Given the description of an element on the screen output the (x, y) to click on. 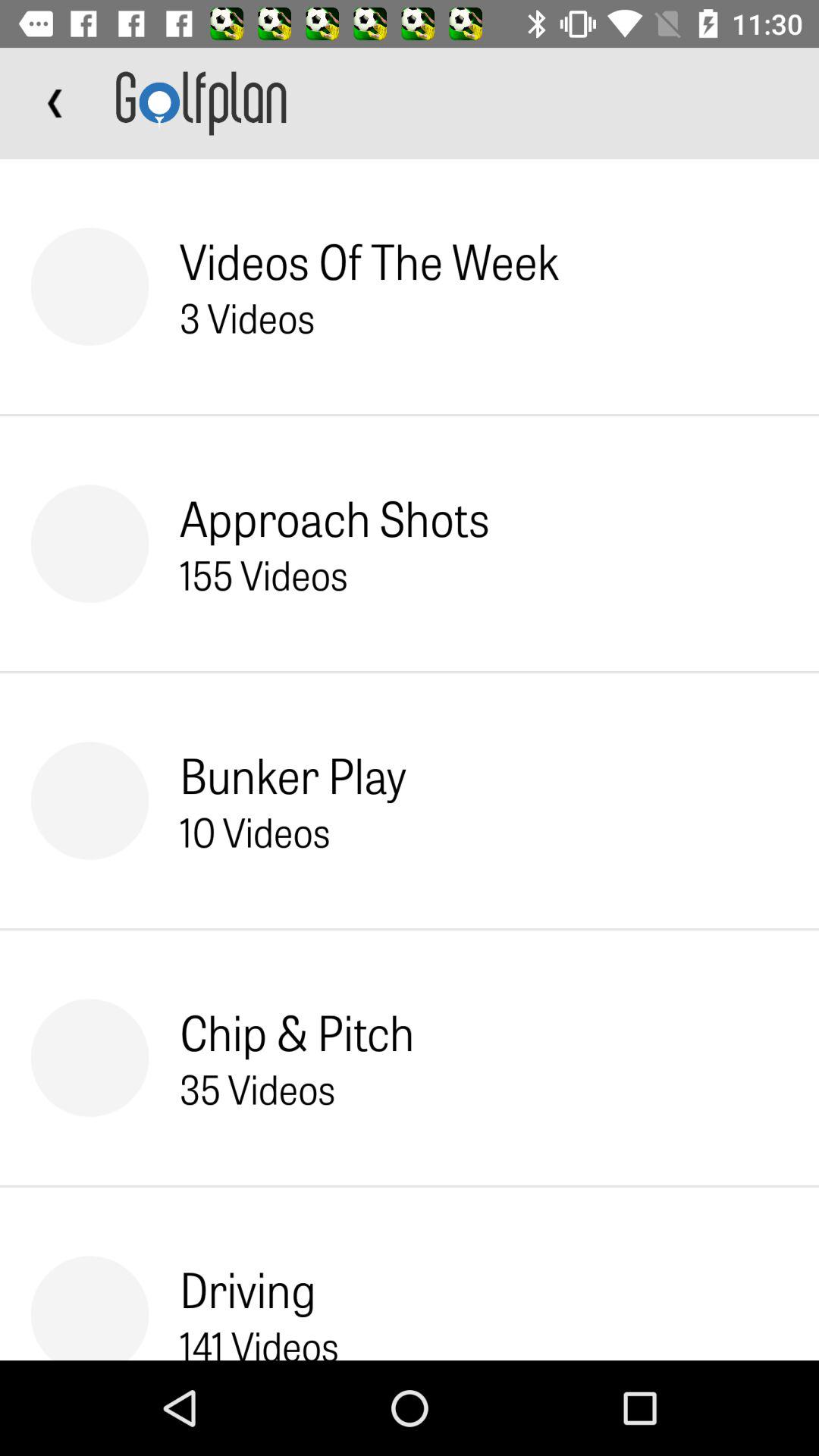
launch the driving (247, 1289)
